Given the description of an element on the screen output the (x, y) to click on. 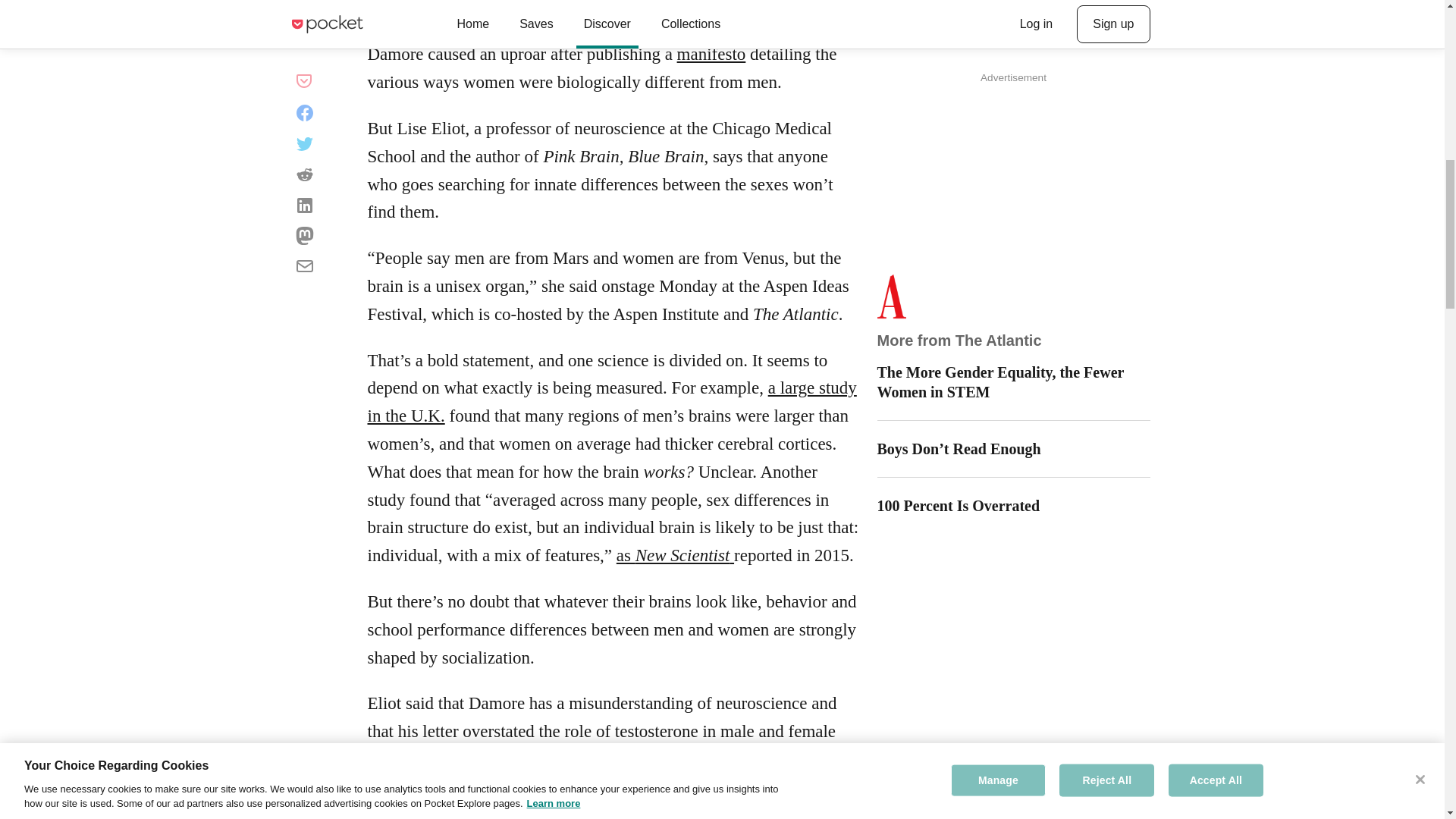
100 Percent Is Overrated (1013, 505)
as New Scientist (674, 555)
a large study in the U.K. (611, 401)
The More Gender Equality, the Fewer Women in STEM (1013, 382)
manifesto (711, 54)
